Given the description of an element on the screen output the (x, y) to click on. 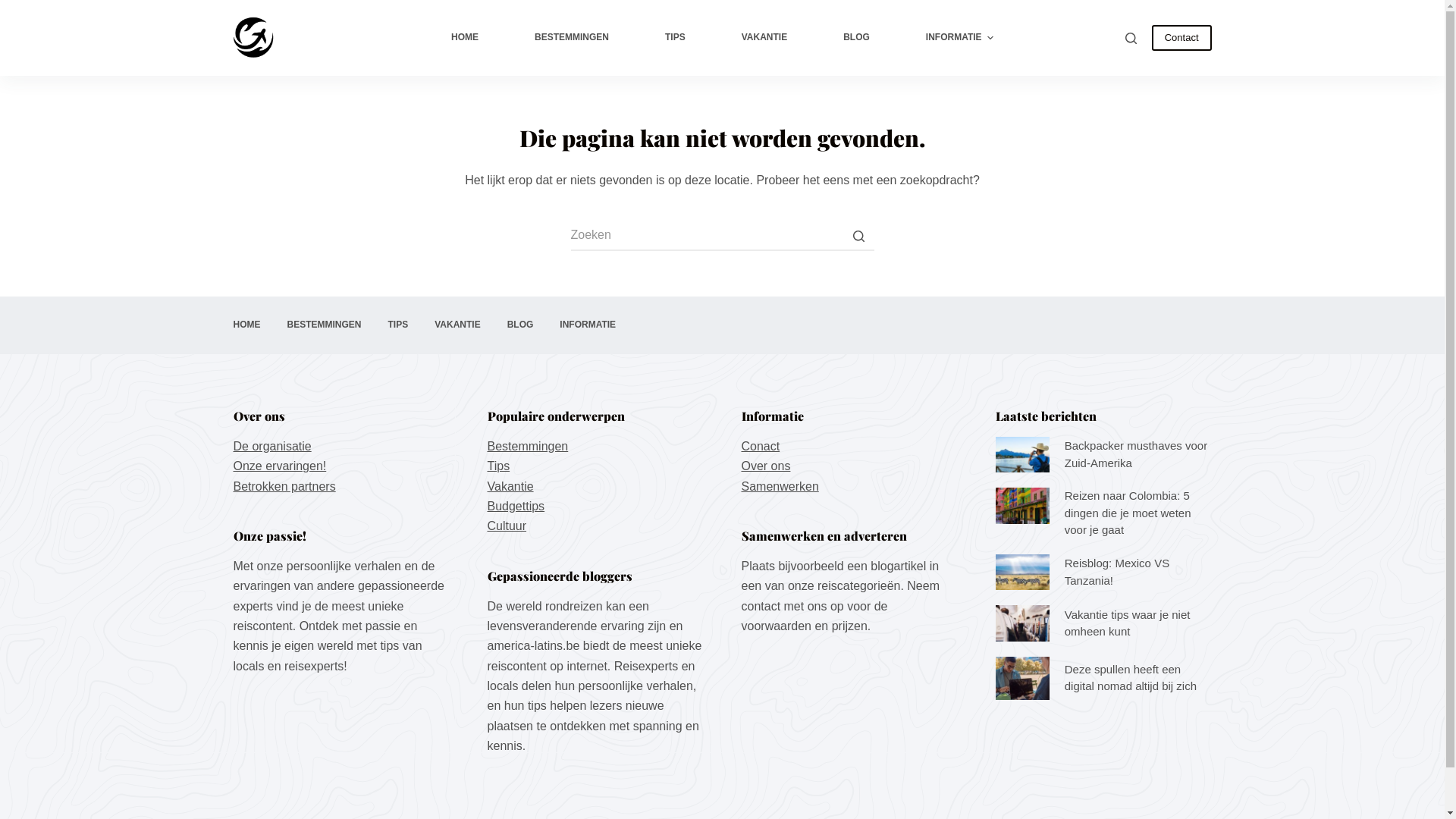
TIPS Element type: text (397, 325)
INFORMATIE Element type: text (587, 325)
Vakantie tips waar je niet omheen kunt Element type: text (1102, 623)
Backpacker musthaves voor Zuid-Amerika Element type: text (1102, 454)
VAKANTIE Element type: text (457, 325)
Tips Element type: text (497, 465)
Cultuur Element type: text (506, 525)
Betrokken partners Element type: text (284, 486)
Reisblog: Mexico VS Tanzania! Element type: text (1102, 572)
Zoek naar... Element type: hover (721, 235)
BLOG Element type: text (856, 37)
HOME Element type: text (464, 37)
De organisatie Element type: text (272, 445)
Deze spullen heeft een digital nomad altijd bij zich Element type: text (1102, 677)
BLOG Element type: text (519, 325)
Budgettips Element type: text (515, 505)
Doorgaan naar artikel Element type: text (15, 7)
Conact Element type: text (760, 445)
Vakantie Element type: text (509, 486)
BESTEMMINGEN Element type: text (323, 325)
Onze ervaringen! Element type: text (279, 465)
Samenwerken Element type: text (780, 486)
Bestemmingen Element type: text (526, 445)
VAKANTIE Element type: text (764, 37)
HOME Element type: text (246, 325)
Contact Element type: text (1181, 37)
BESTEMMINGEN Element type: text (571, 37)
Over ons Element type: text (765, 465)
INFORMATIE Element type: text (959, 37)
TIPS Element type: text (675, 37)
